Given the description of an element on the screen output the (x, y) to click on. 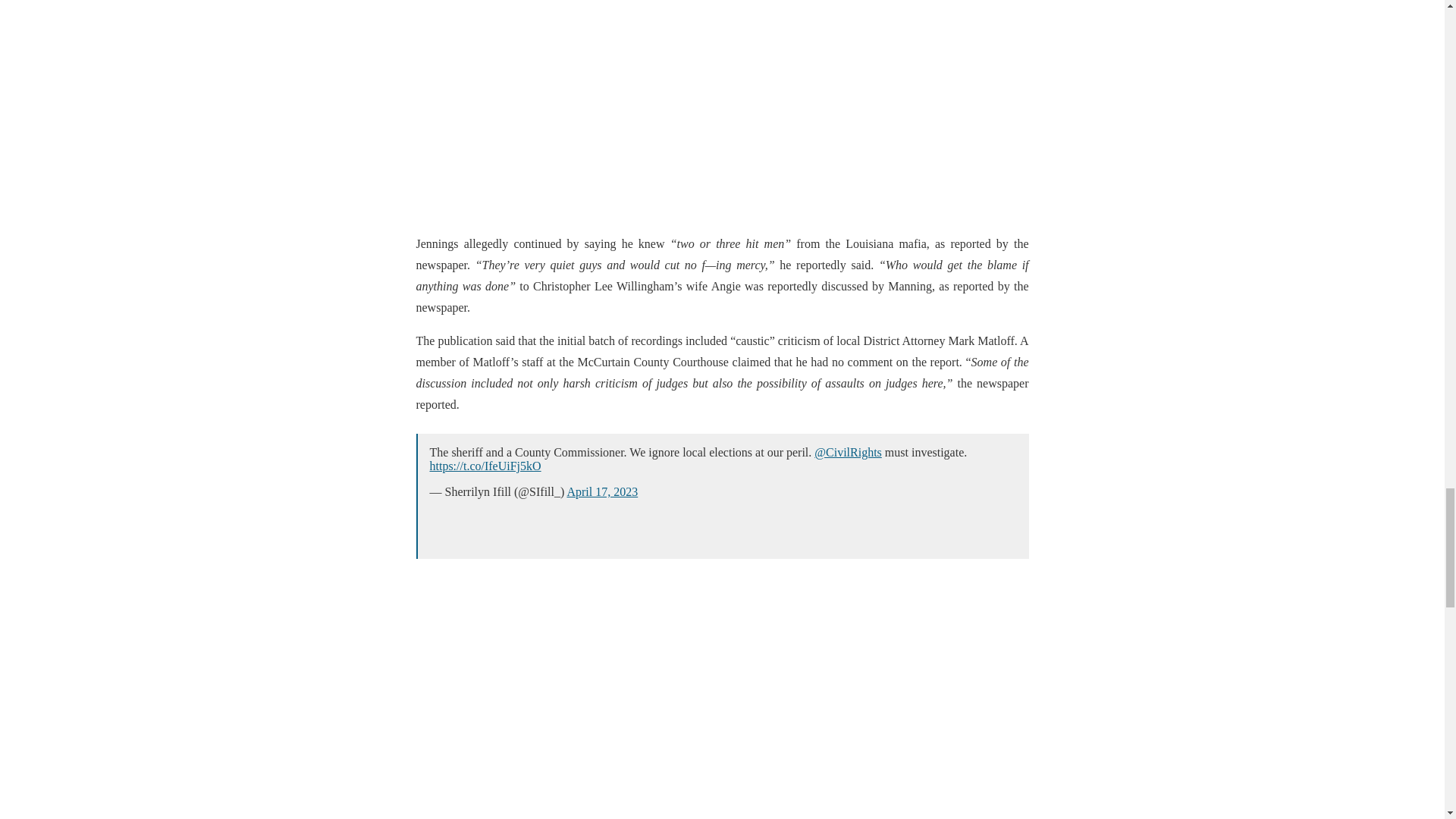
April 17, 2023 (601, 491)
